Given the description of an element on the screen output the (x, y) to click on. 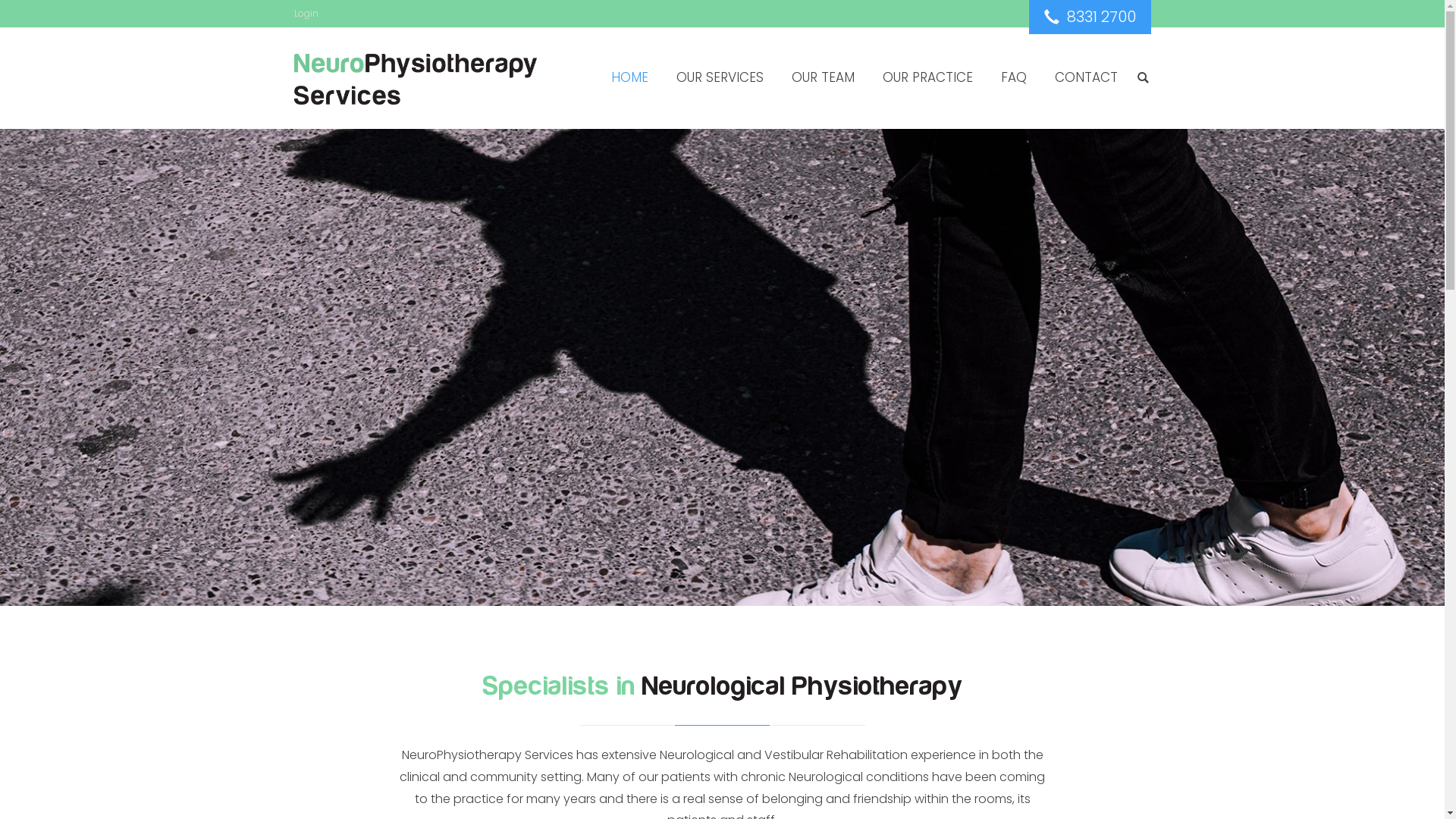
Login Element type: text (306, 12)
HOME Element type: text (629, 77)
NeuroPhysiotherapy Services Element type: hover (415, 78)
FAQ Element type: text (1013, 77)
OUR SERVICES Element type: text (719, 77)
  8331 2700 Element type: text (1089, 16)
CONTACT Element type: text (1085, 77)
OUR TEAM Element type: text (823, 77)
OUR PRACTICE Element type: text (927, 77)
